Given the description of an element on the screen output the (x, y) to click on. 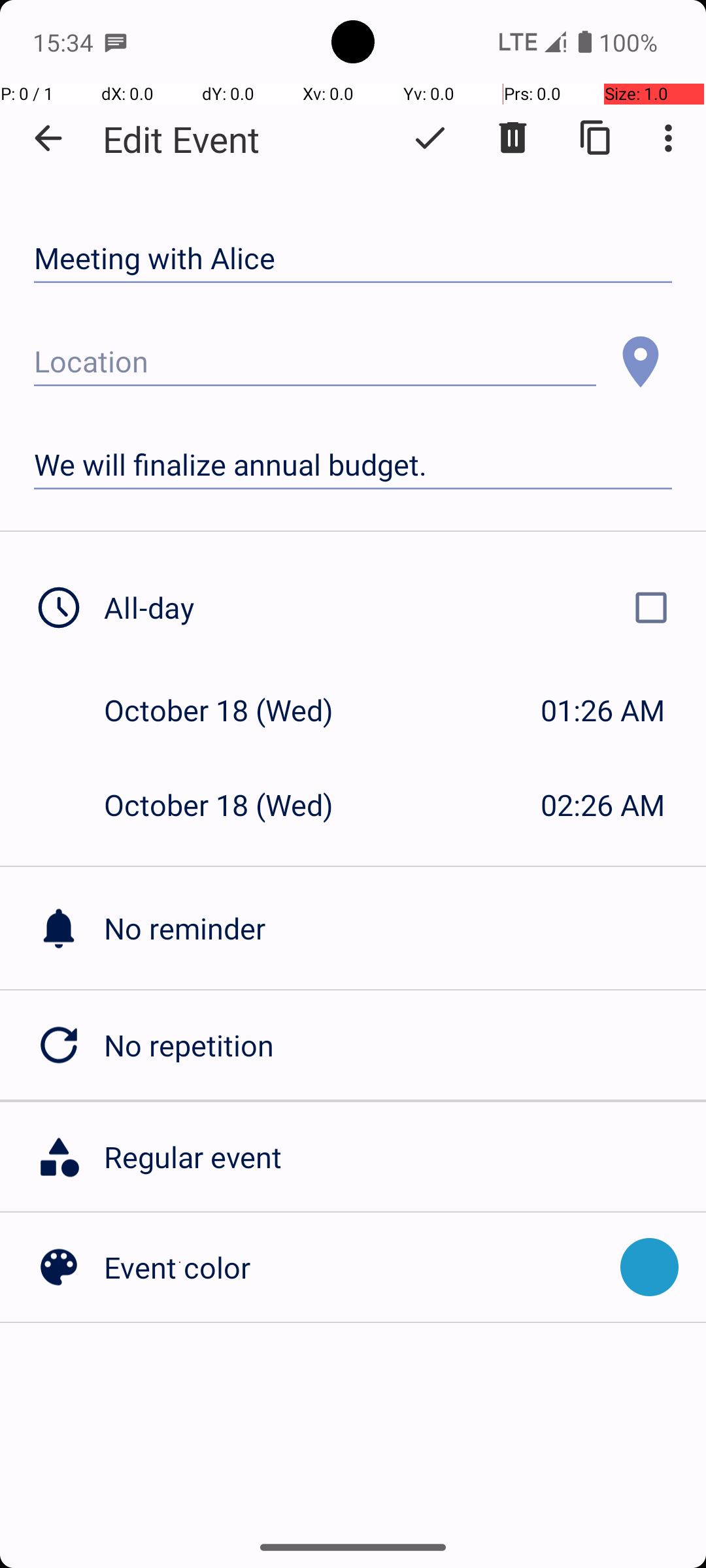
We will finalize annual budget. Element type: android.widget.EditText (352, 465)
October 18 (Wed) Element type: android.widget.TextView (232, 709)
01:26 AM Element type: android.widget.TextView (602, 709)
02:26 AM Element type: android.widget.TextView (602, 804)
